Given the description of an element on the screen output the (x, y) to click on. 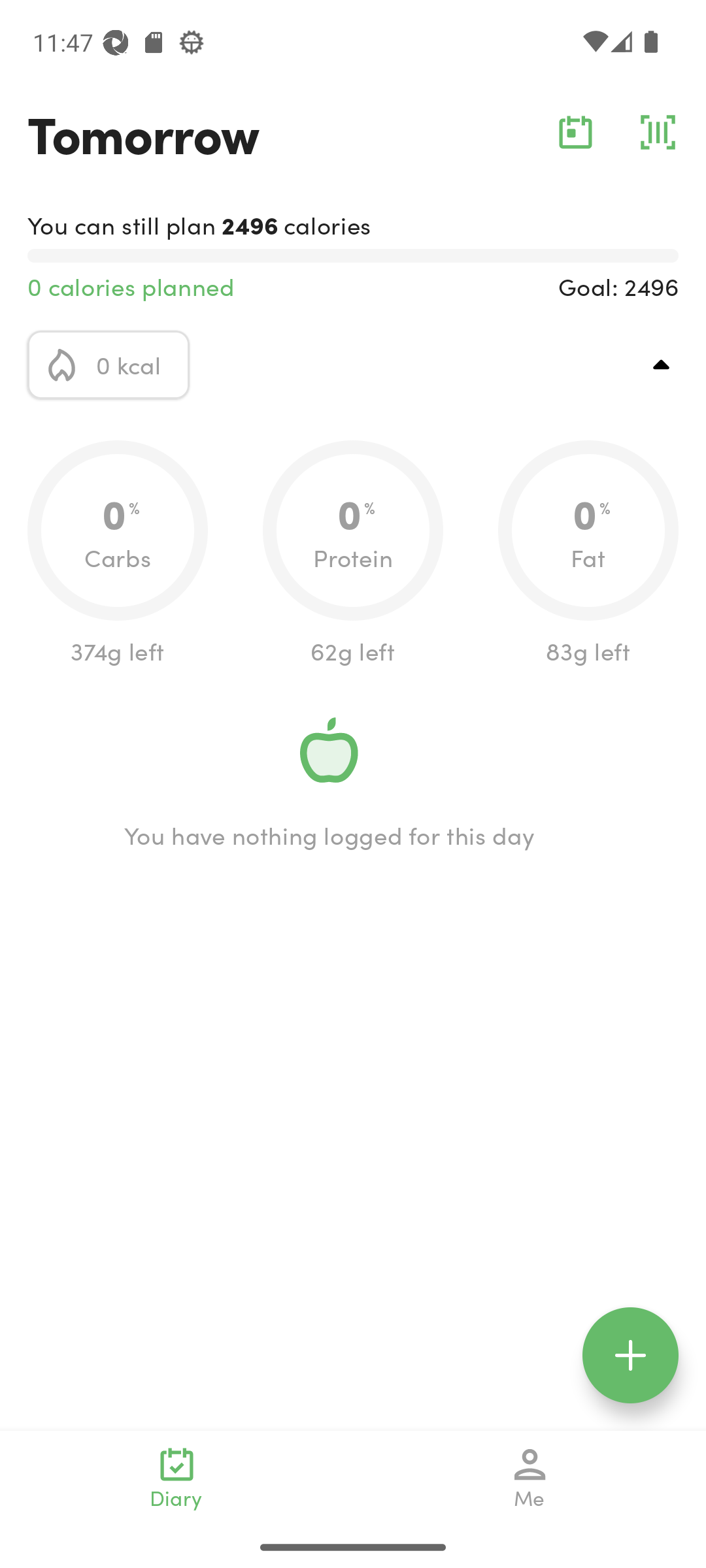
calendar_action (575, 132)
barcode_action (658, 132)
calorie_icon 0 kcal (108, 365)
top_right_action (661, 365)
0.0 0 % Carbs 374g left (117, 553)
0.0 0 % Protein 62g left (352, 553)
0.0 0 % Fat 83g left (588, 553)
floating_action_icon (630, 1355)
Me navigation_icon (529, 1478)
